Given the description of an element on the screen output the (x, y) to click on. 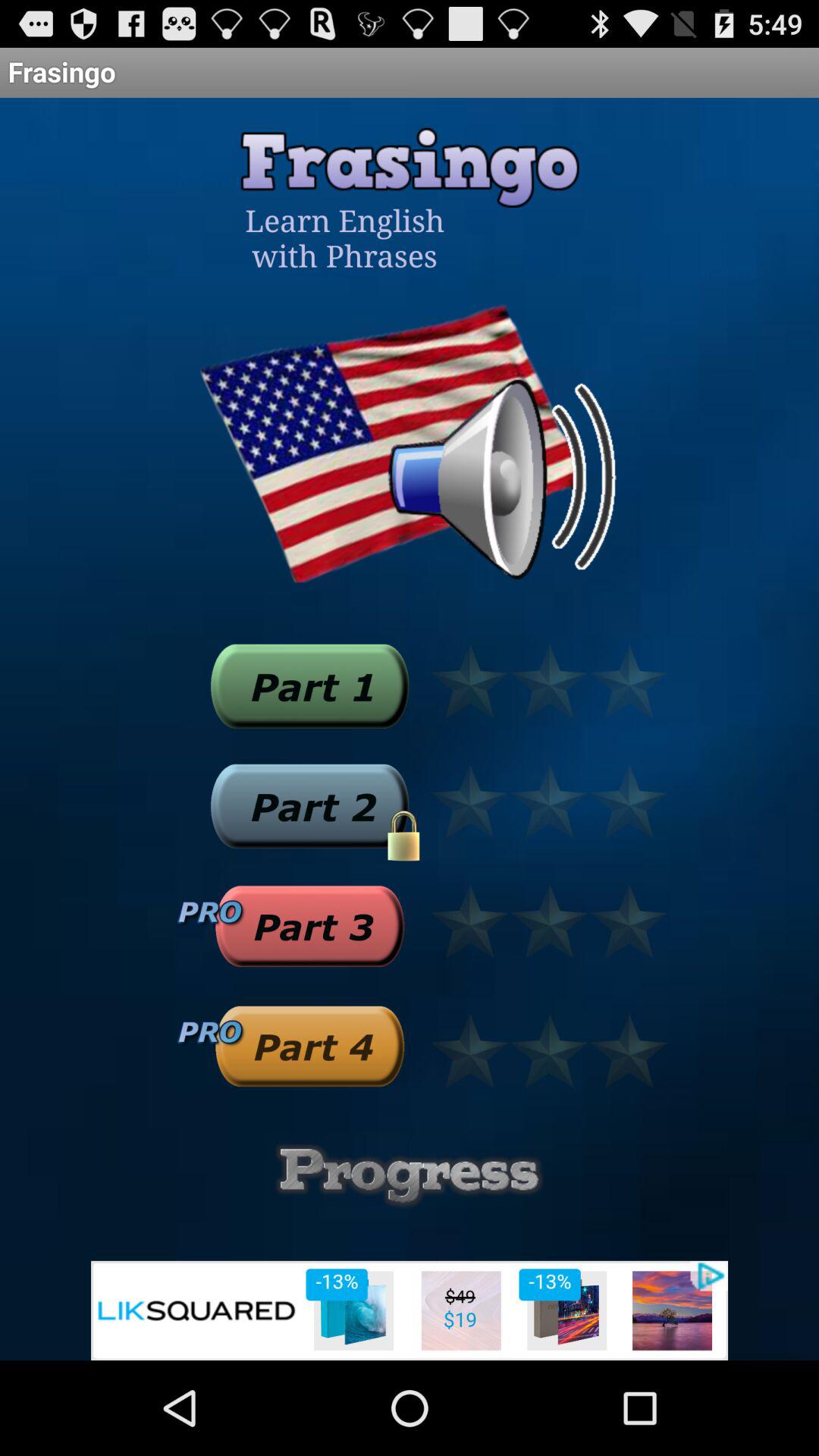
part 4 (309, 1046)
